Given the description of an element on the screen output the (x, y) to click on. 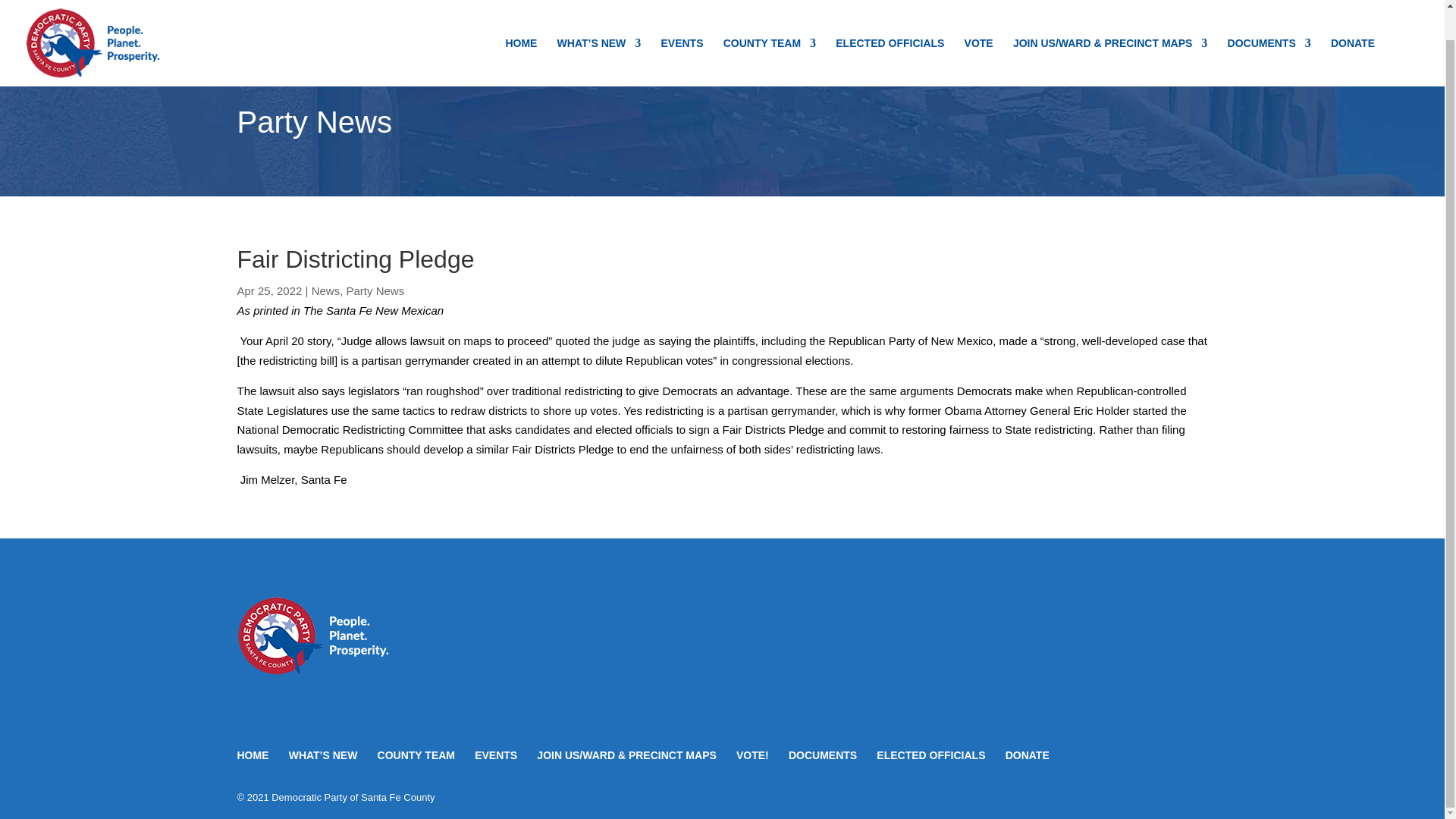
DOCUMENTS (1269, 30)
COUNTY TEAM (769, 30)
DONATE (1352, 30)
ELECTED OFFICIALS (889, 30)
